Given the description of an element on the screen output the (x, y) to click on. 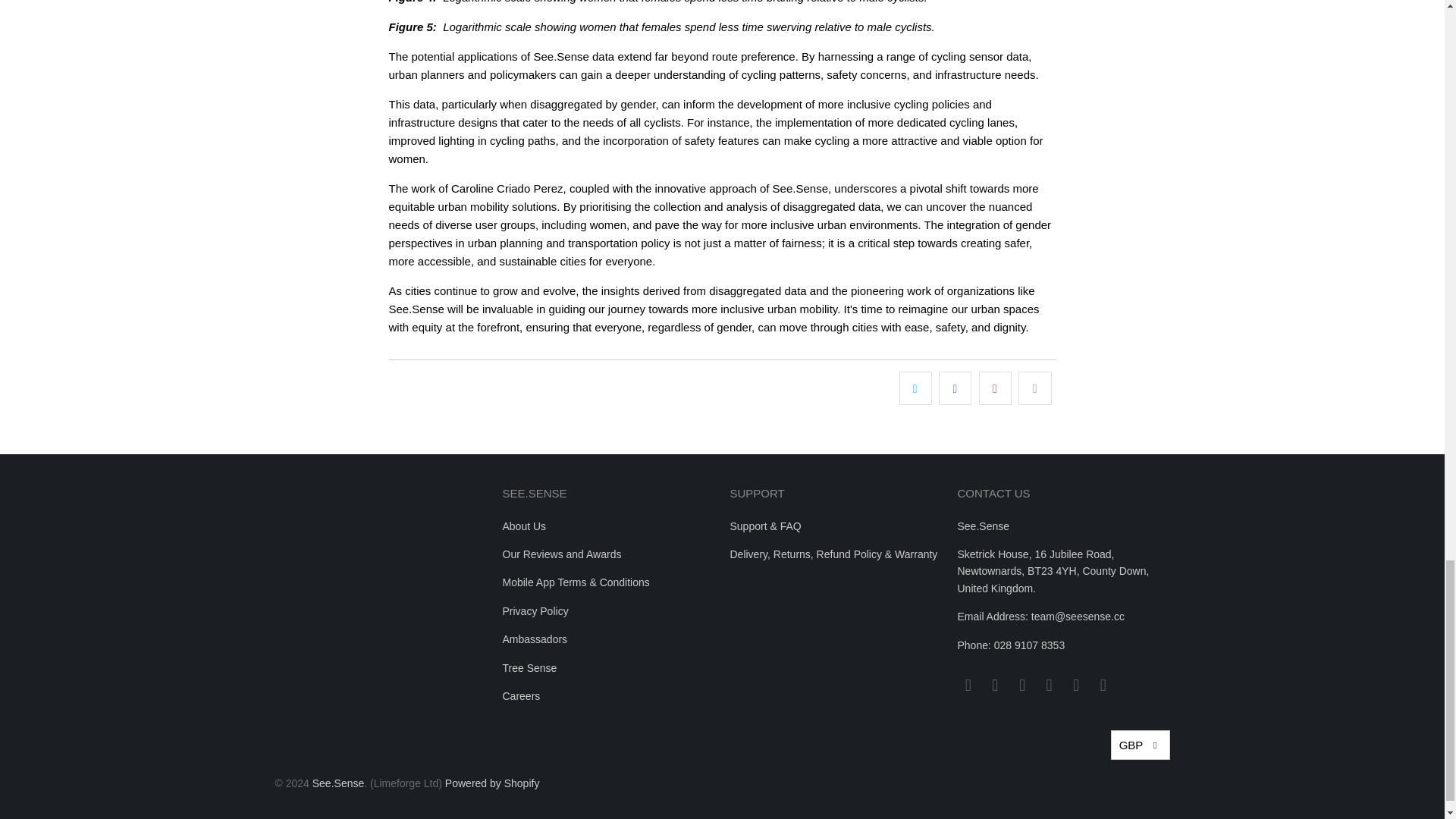
Share this on Twitter (915, 387)
See.Sense on Facebook (995, 685)
Email this to a friend (1034, 387)
See.Sense on Instagram (1022, 685)
Share this on Pinterest (994, 387)
Share this on Facebook (955, 387)
Email See.Sense (967, 685)
